Given the description of an element on the screen output the (x, y) to click on. 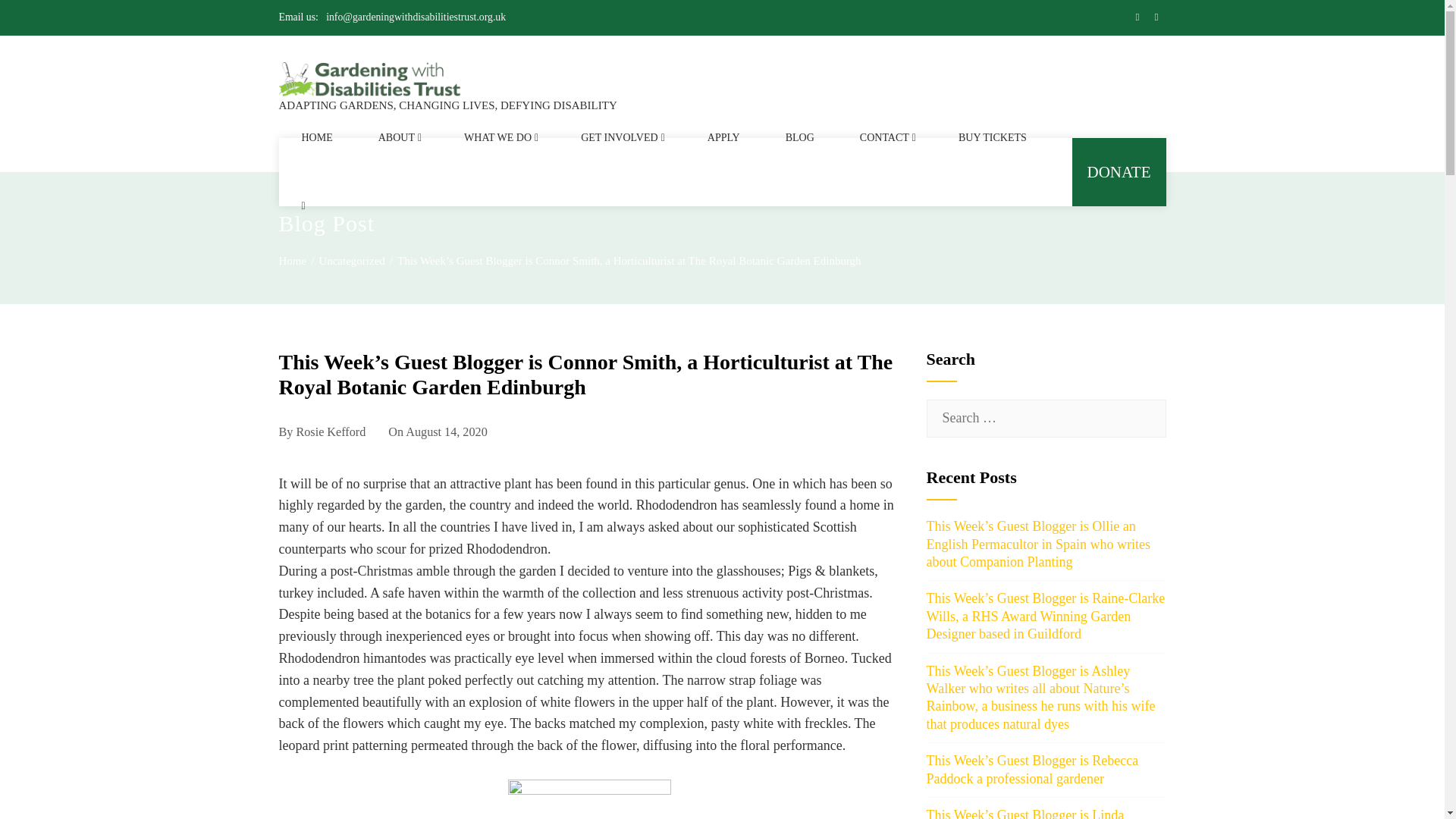
CONTACT (886, 137)
HOME (316, 137)
WHAT WE DO (499, 137)
ABOUT (397, 137)
BUY TICKETS (992, 137)
GET INVOLVED (621, 137)
APPLY (724, 137)
ADAPTING GARDENS, CHANGING LIVES, DEFYING DISABILITY (448, 105)
